Given the description of an element on the screen output the (x, y) to click on. 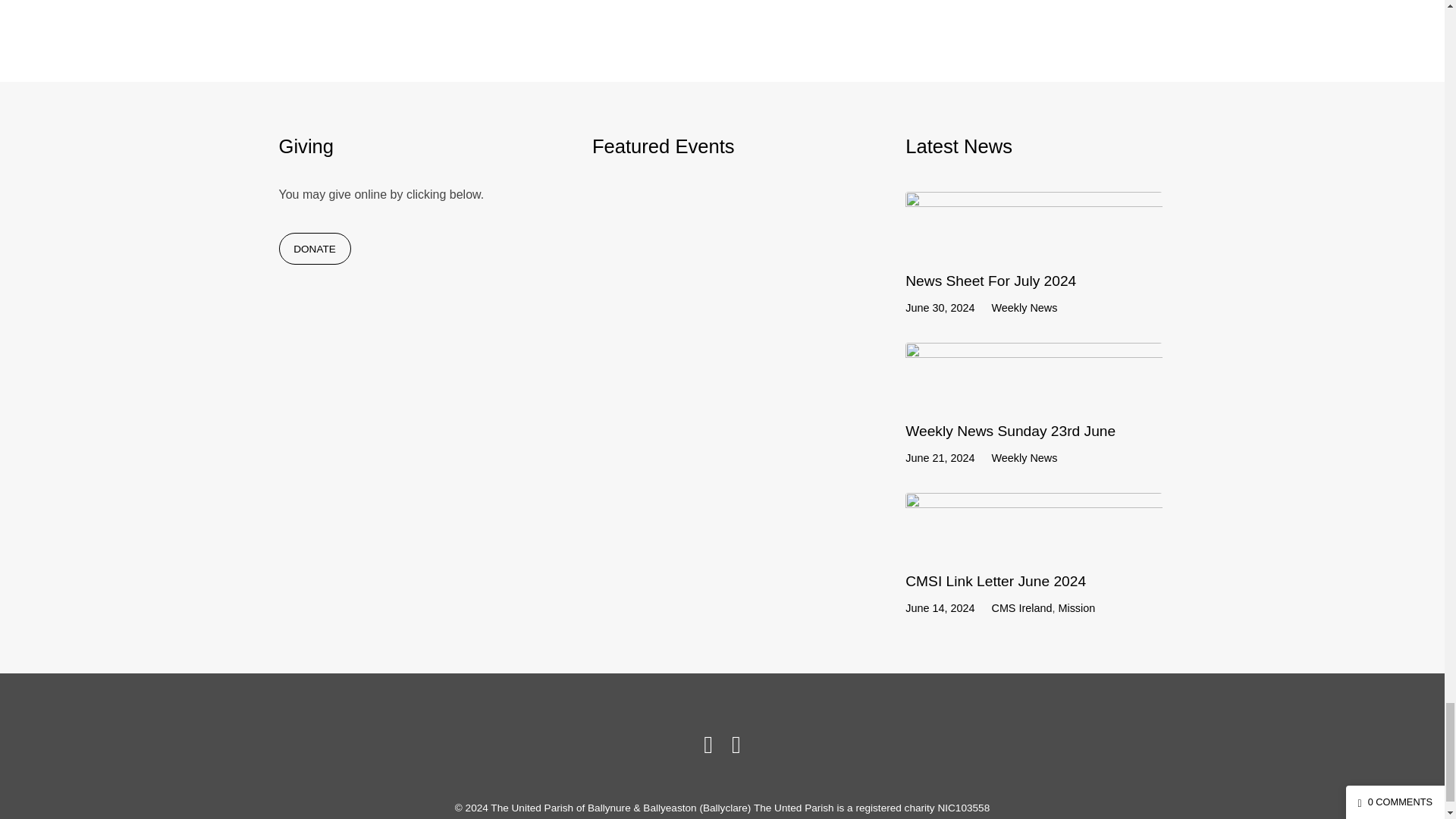
News Sheet For July 2024 (990, 280)
CMSI Link Letter June 2024 (995, 580)
Weekly News Sunday 23rd June (1033, 394)
Weekly News Sunday 23rd June (1010, 430)
CMSI Link Letter June 2024 (1033, 545)
News Sheet For July 2024 (1033, 244)
